Given the description of an element on the screen output the (x, y) to click on. 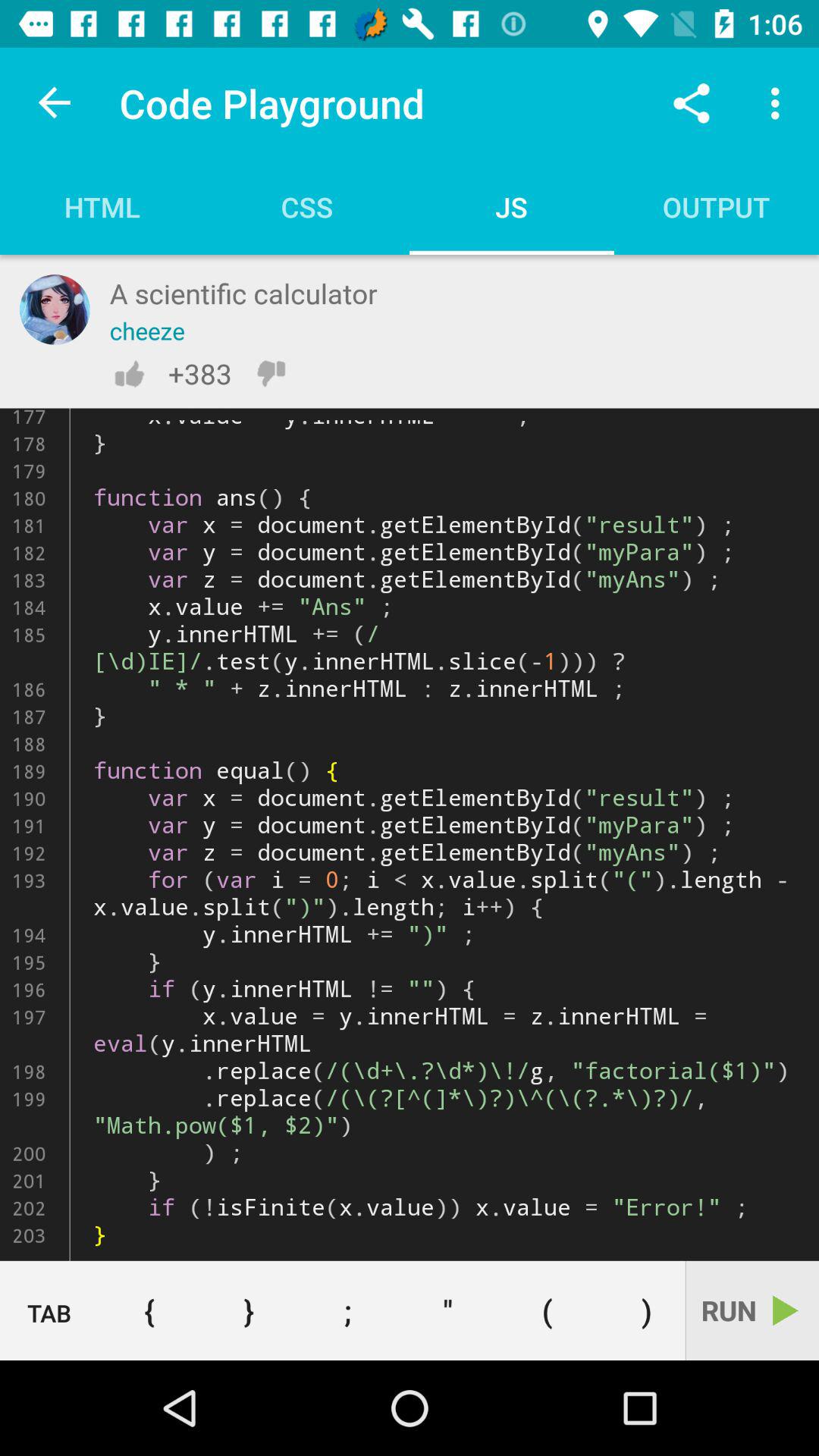
press the item to the right of the } item (348, 1310)
